Given the description of an element on the screen output the (x, y) to click on. 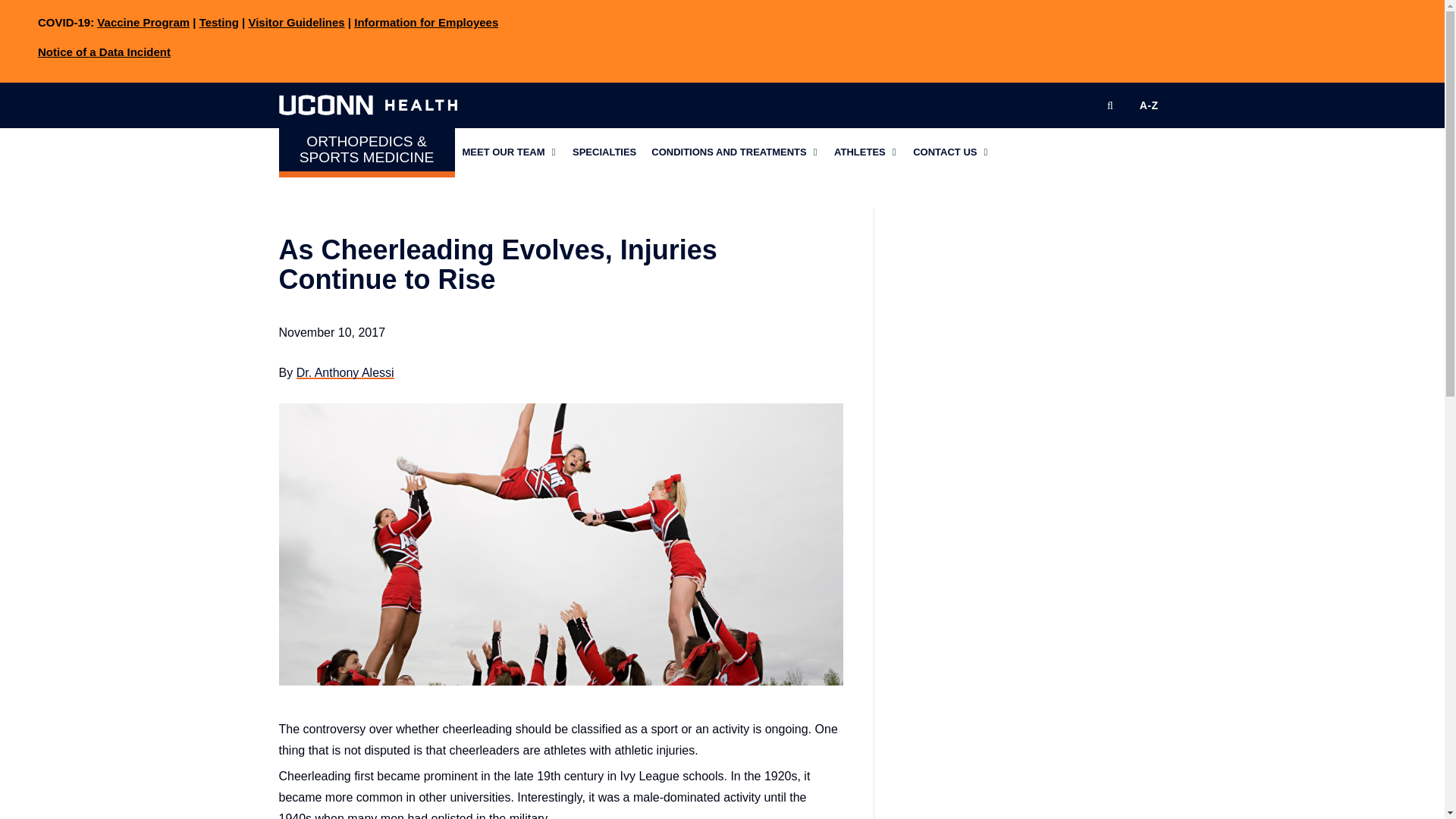
Vaccine Program (143, 21)
Information for Employees (425, 21)
MEET OUR TEAM (510, 151)
Testing (218, 21)
Visitor Guidelines (295, 21)
Dr. Anthony Alessi (345, 372)
Notice of a Data Incident (103, 51)
ATHLETES (866, 151)
SPECIALTIES (603, 151)
CONDITIONS AND TREATMENTS (735, 151)
